Given the description of an element on the screen output the (x, y) to click on. 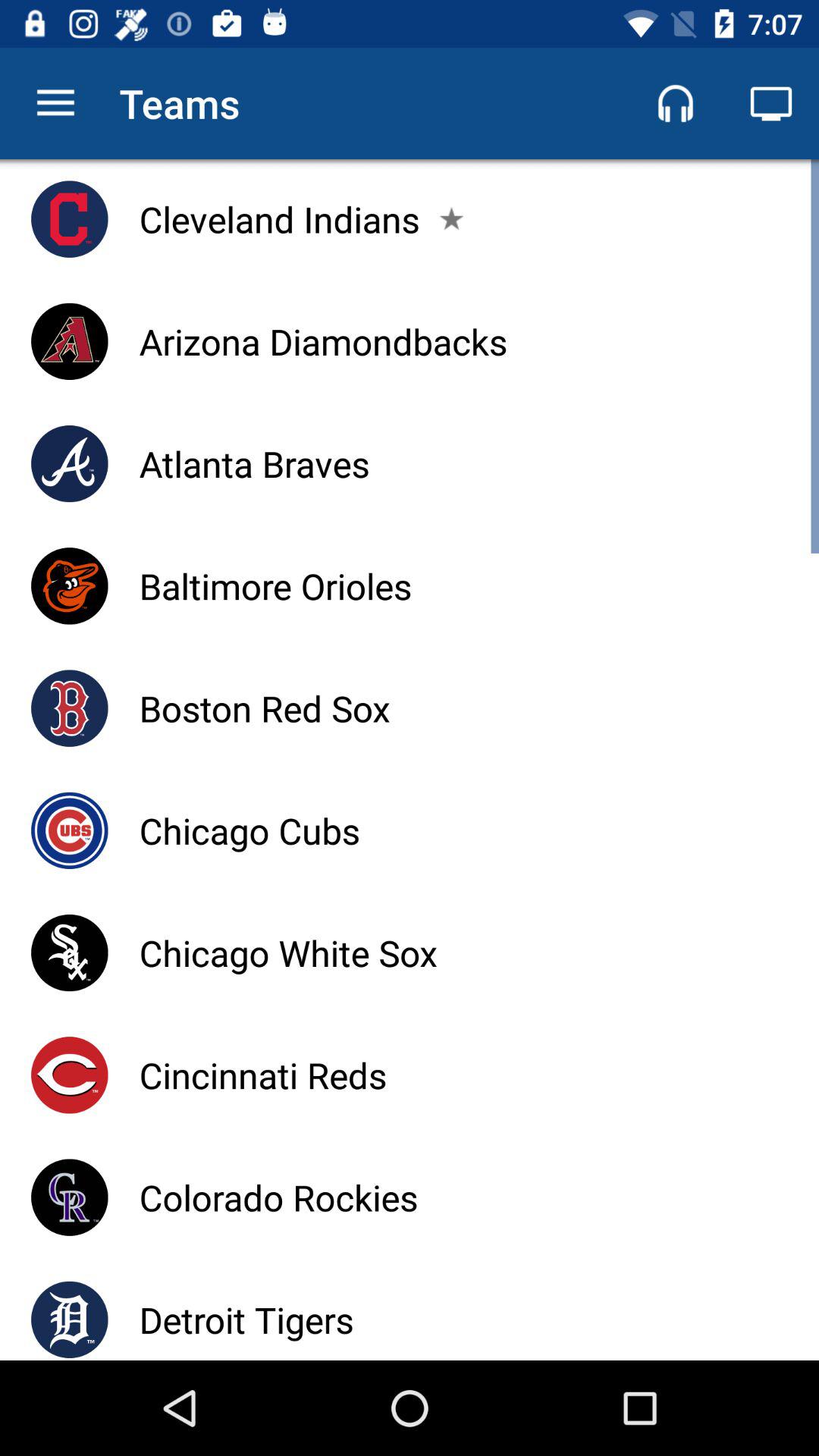
tap boston red sox icon (264, 708)
